Given the description of an element on the screen output the (x, y) to click on. 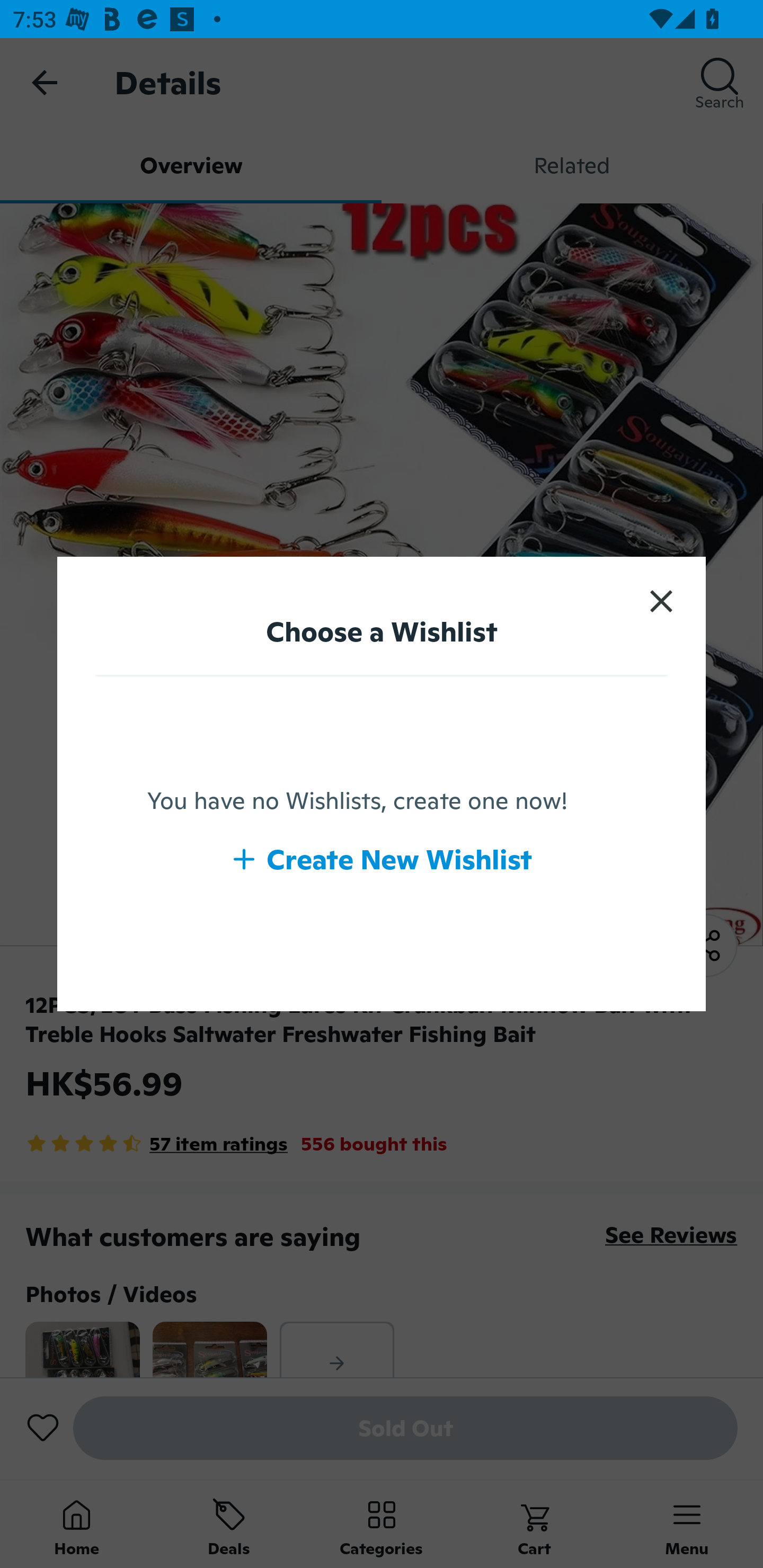
Create New Wishlist (381, 859)
